Given the description of an element on the screen output the (x, y) to click on. 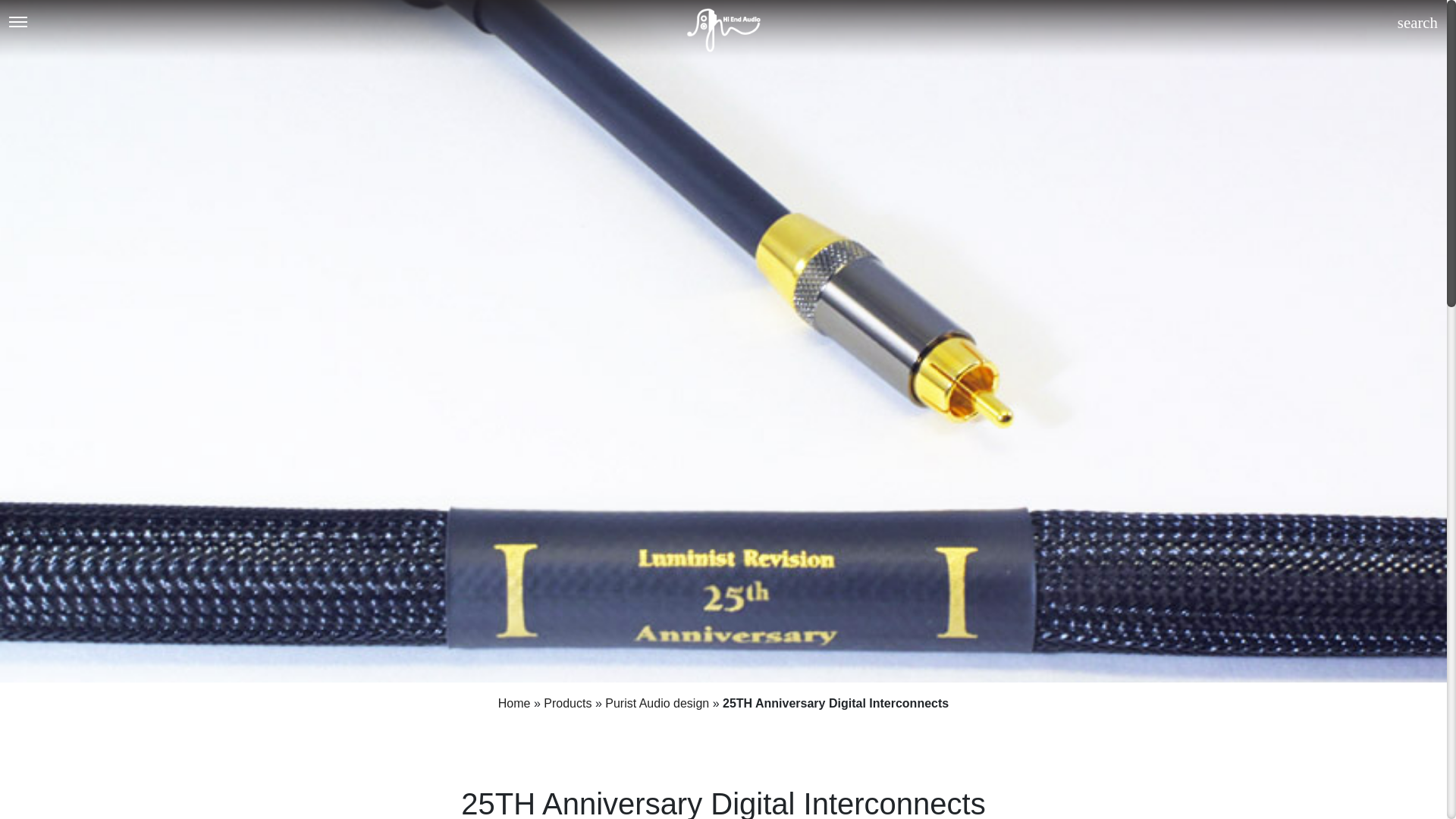
Products (567, 703)
Home (514, 703)
Purist Audio design (657, 703)
